Given the description of an element on the screen output the (x, y) to click on. 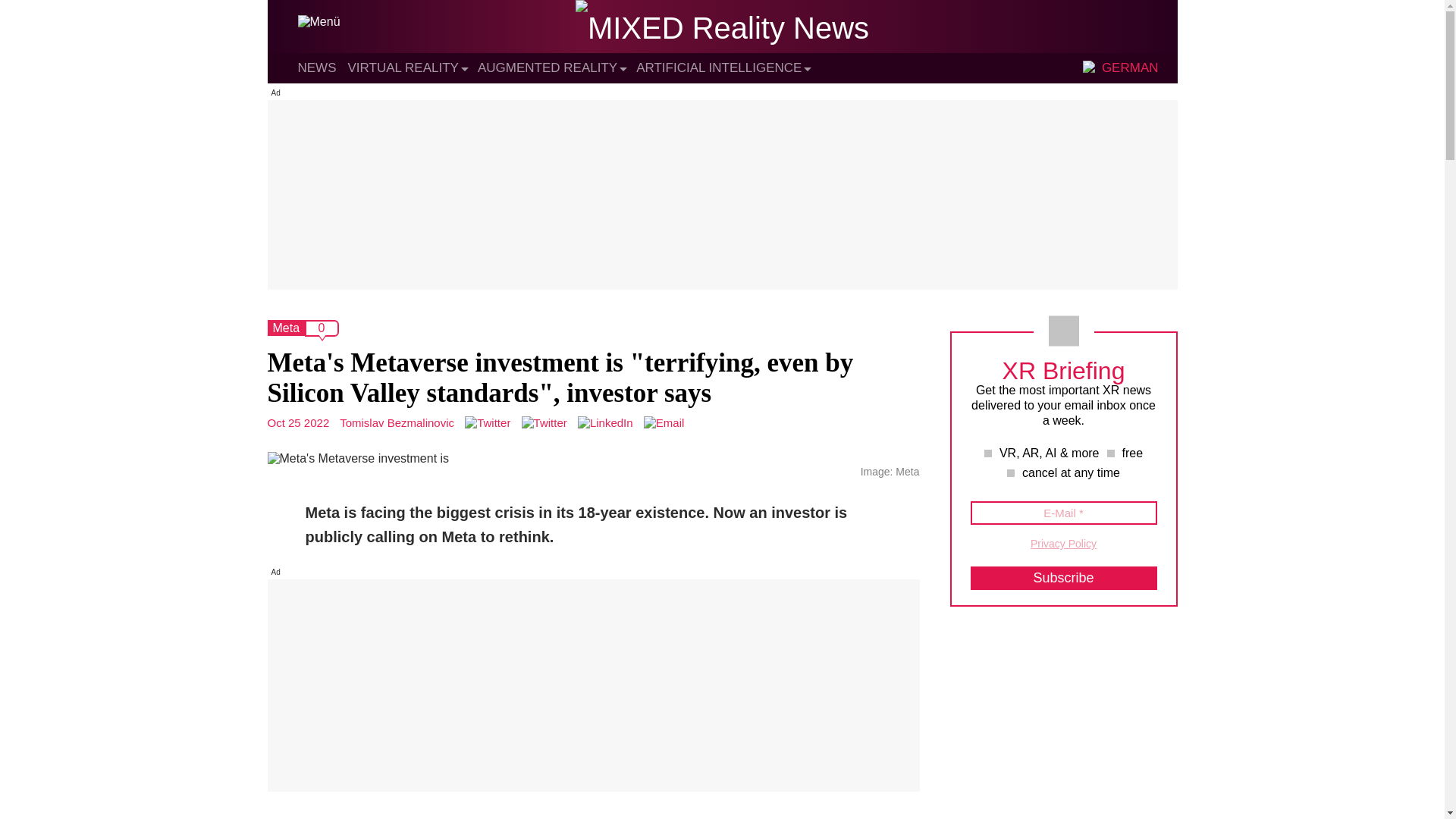
Menu (318, 21)
VIRTUAL REALITY (402, 67)
AUGMENTED REALITY (547, 67)
NEWS (316, 67)
german (1090, 68)
ARTIFICIAL INTELLIGENCE (719, 67)
MIXED Reality News (722, 28)
Subscribe (1064, 577)
MIXED Reality News (722, 28)
Oct 25 2022 (297, 422)
